Given the description of an element on the screen output the (x, y) to click on. 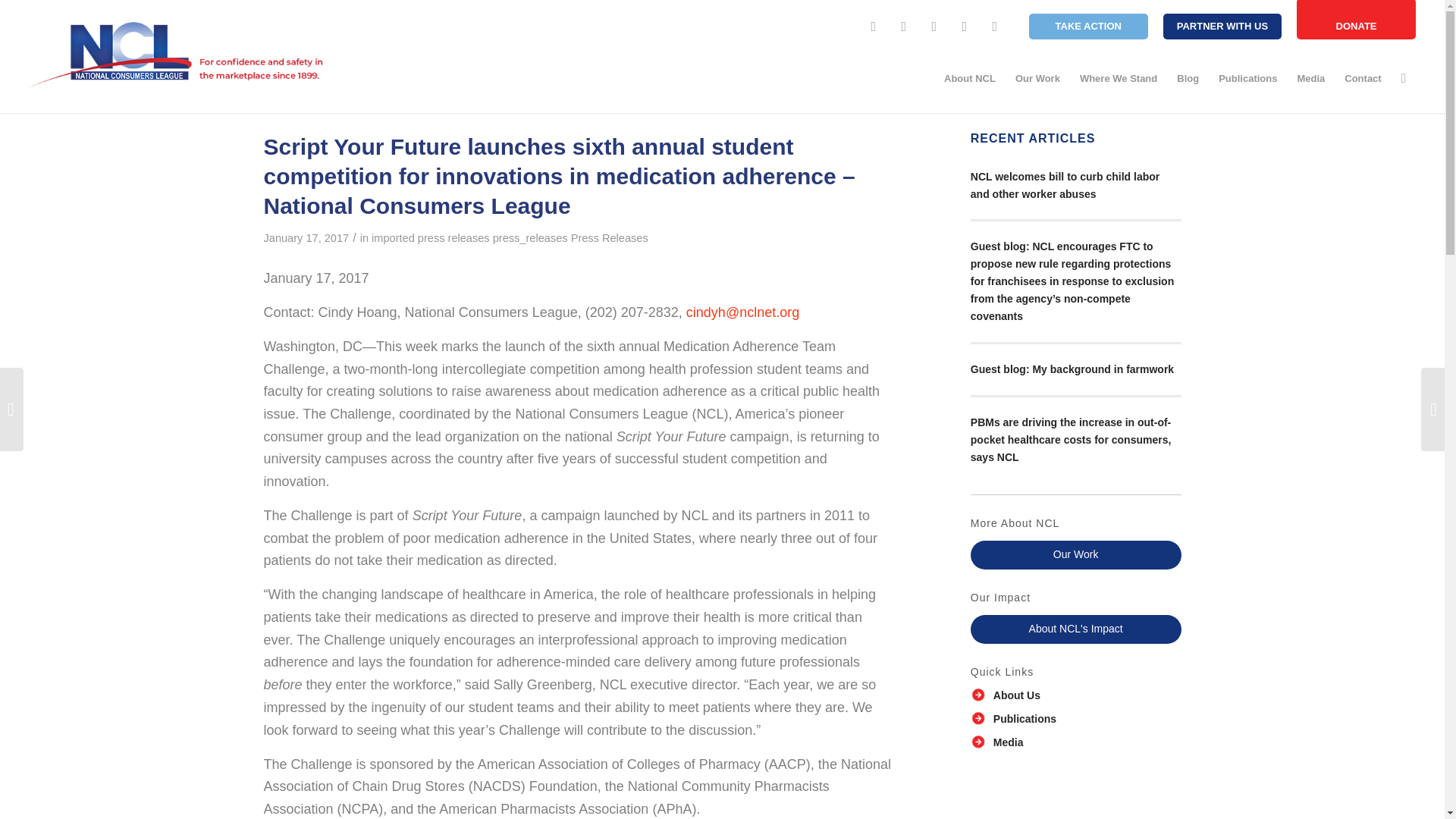
NCL-logo (176, 54)
LinkedIn (995, 26)
Twitter (903, 26)
TAKE ACTION (1088, 26)
PARTNER WITH US (1222, 26)
Publications (1247, 79)
Instagram (933, 26)
Our Work (1038, 79)
About NCL (970, 79)
Where We Stand (1118, 79)
Youtube (964, 26)
Facebook (873, 26)
DONATE (1356, 19)
